Given the description of an element on the screen output the (x, y) to click on. 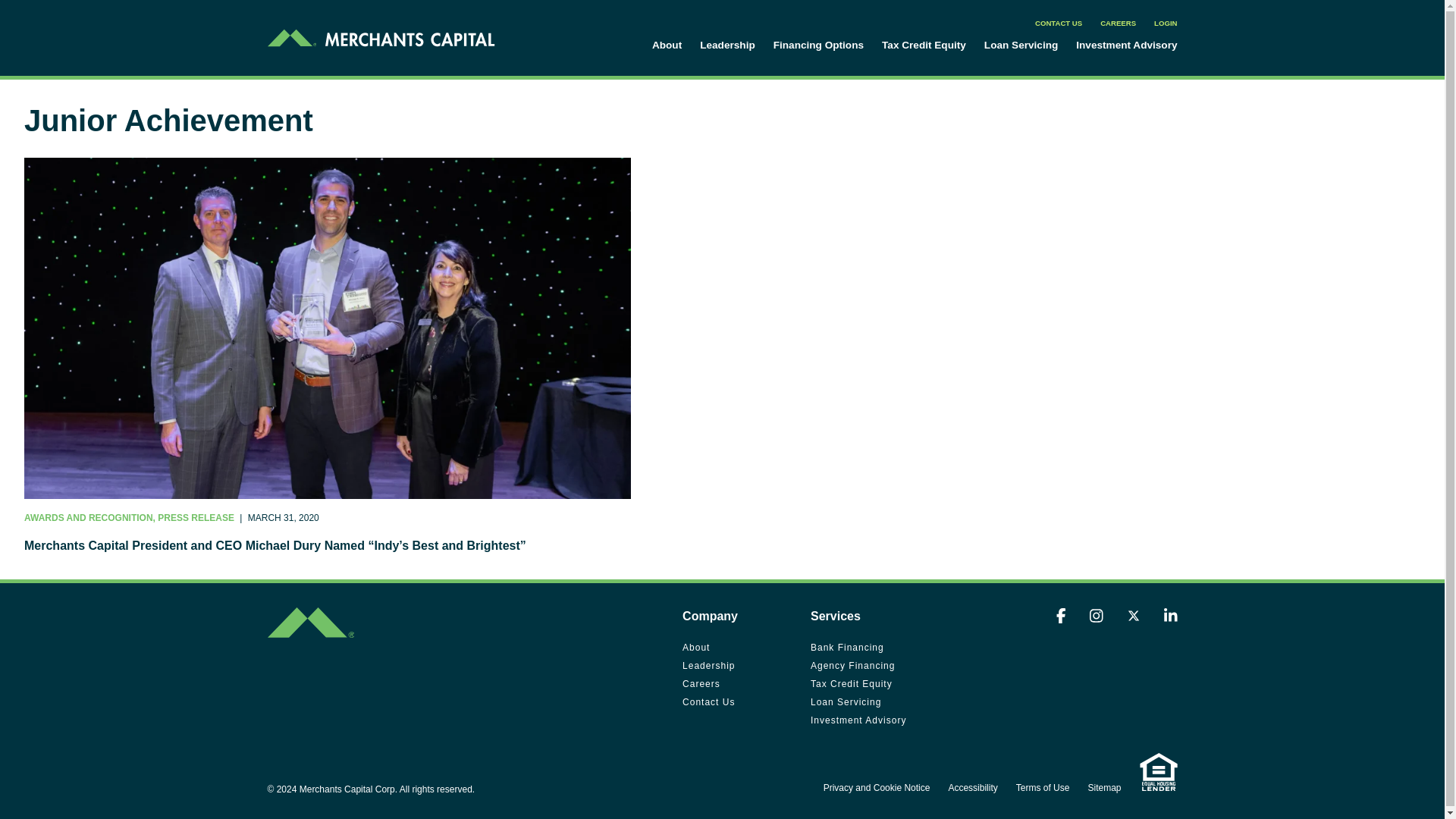
Investment Advisory (1125, 45)
Leadership (727, 45)
Loan Servicing (1021, 45)
Leadership (708, 665)
About (696, 647)
Financing Options (818, 45)
Tax Credit Equity (851, 684)
Bank Financing (846, 647)
Loan Servicing (845, 702)
Investment Advisory (857, 720)
Careers (701, 684)
Agency Financing (852, 665)
About (666, 45)
CAREERS (1117, 22)
LOGIN (1165, 22)
